Given the description of an element on the screen output the (x, y) to click on. 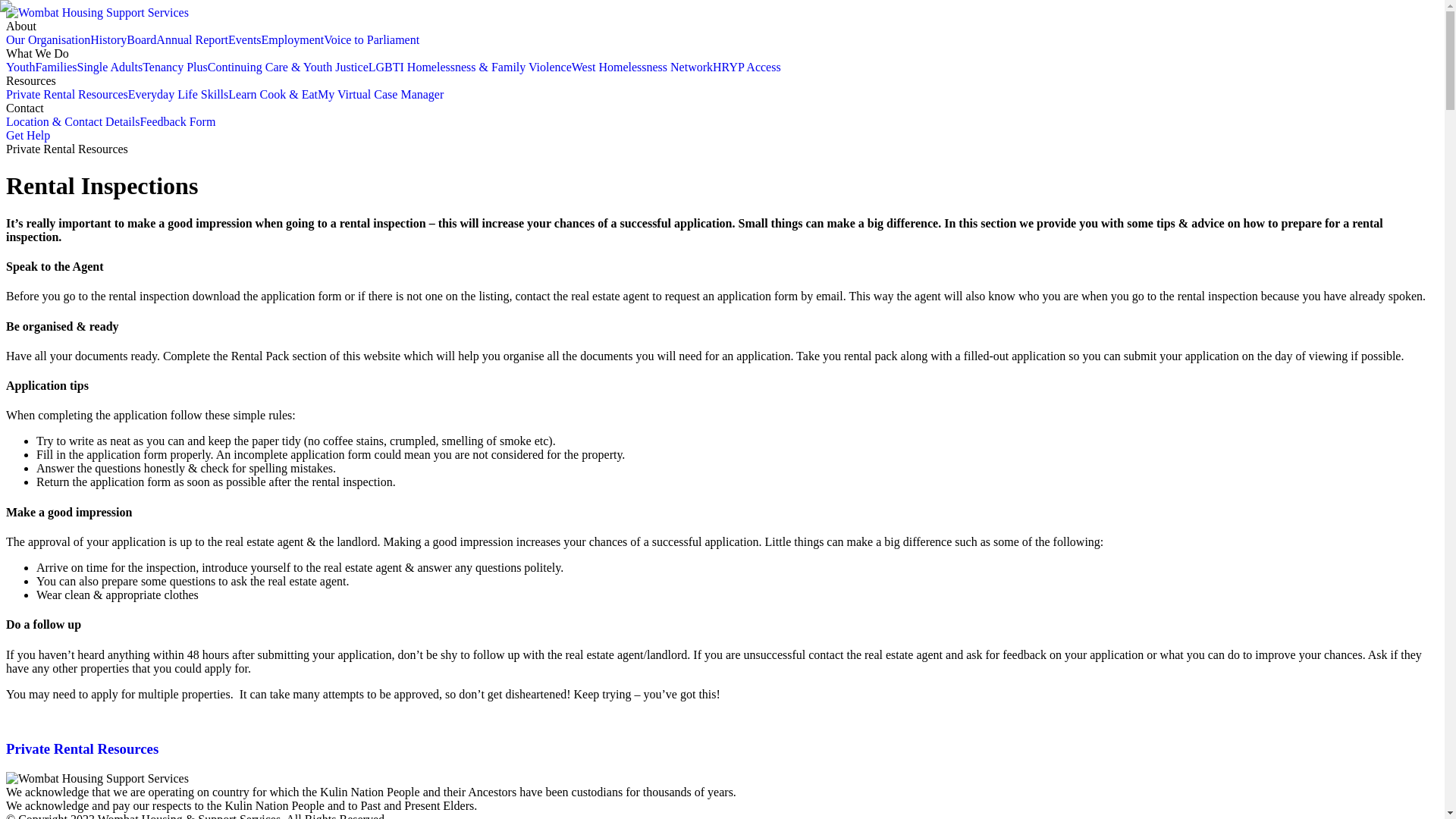
Feedback Form Element type: text (177, 121)
Private Rental Resources Element type: text (67, 93)
Events Element type: text (244, 39)
Private Rental Resources Element type: text (722, 748)
Our Organisation Element type: text (48, 39)
Everyday Life Skills Element type: text (178, 93)
Location & Contact Details Element type: text (72, 121)
My Virtual Case Manager Element type: text (380, 93)
History Element type: text (108, 39)
Get Help Element type: text (28, 134)
Single Adults Element type: text (110, 66)
Voice to Parliament Element type: text (371, 39)
HRYP Access Element type: text (746, 66)
Tenancy Plus Element type: text (174, 66)
Families Element type: text (55, 66)
Youth Element type: text (20, 66)
Continuing Care & Youth Justice Element type: text (287, 66)
Learn Cook & Eat Element type: text (272, 93)
LGBTI Homelessness & Family Violence Element type: text (469, 66)
Annual Report Element type: text (192, 39)
Employment Element type: text (292, 39)
West Homelessness Network Element type: text (641, 66)
Board Element type: text (141, 39)
